Given the description of an element on the screen output the (x, y) to click on. 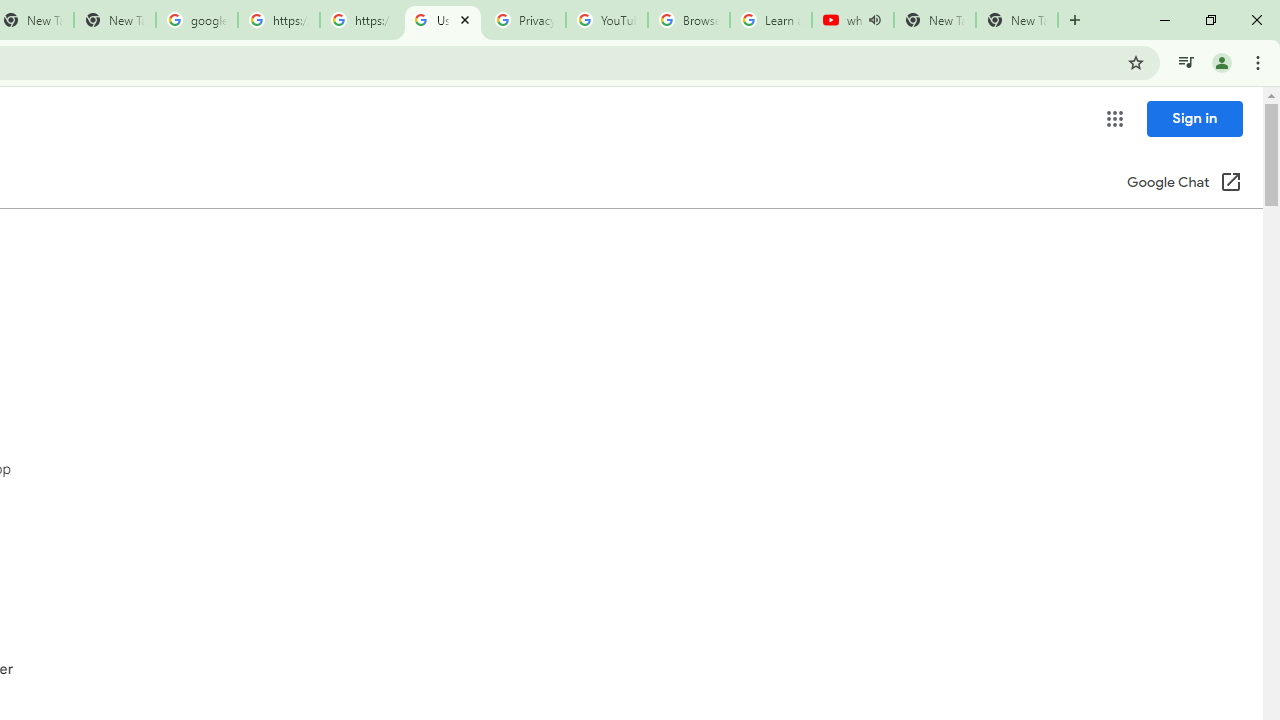
YouTube (606, 20)
Browse Chrome as a guest - Computer - Google Chrome Help (688, 20)
https://scholar.google.com/ (278, 20)
https://scholar.google.com/ (360, 20)
